Given the description of an element on the screen output the (x, y) to click on. 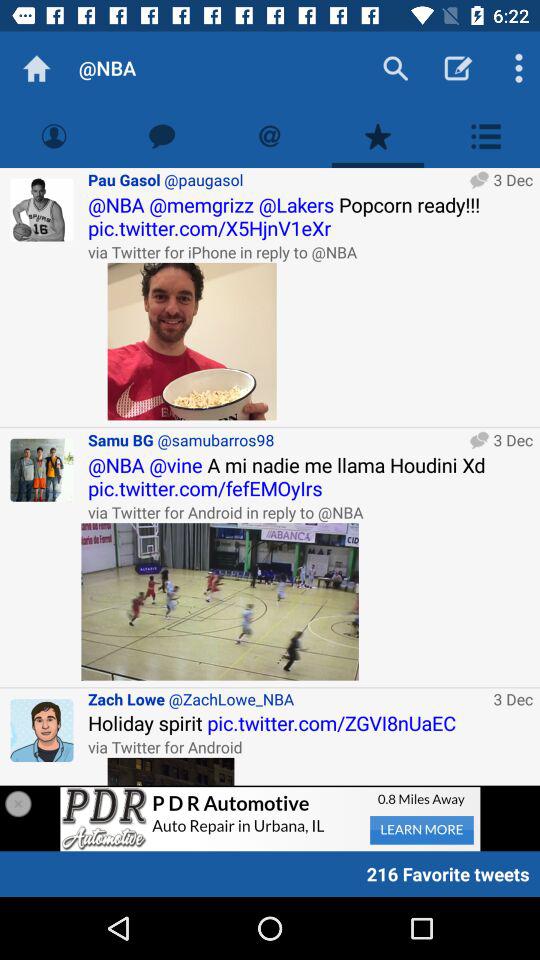
view samu bg 's profile picture (41, 469)
